Given the description of an element on the screen output the (x, y) to click on. 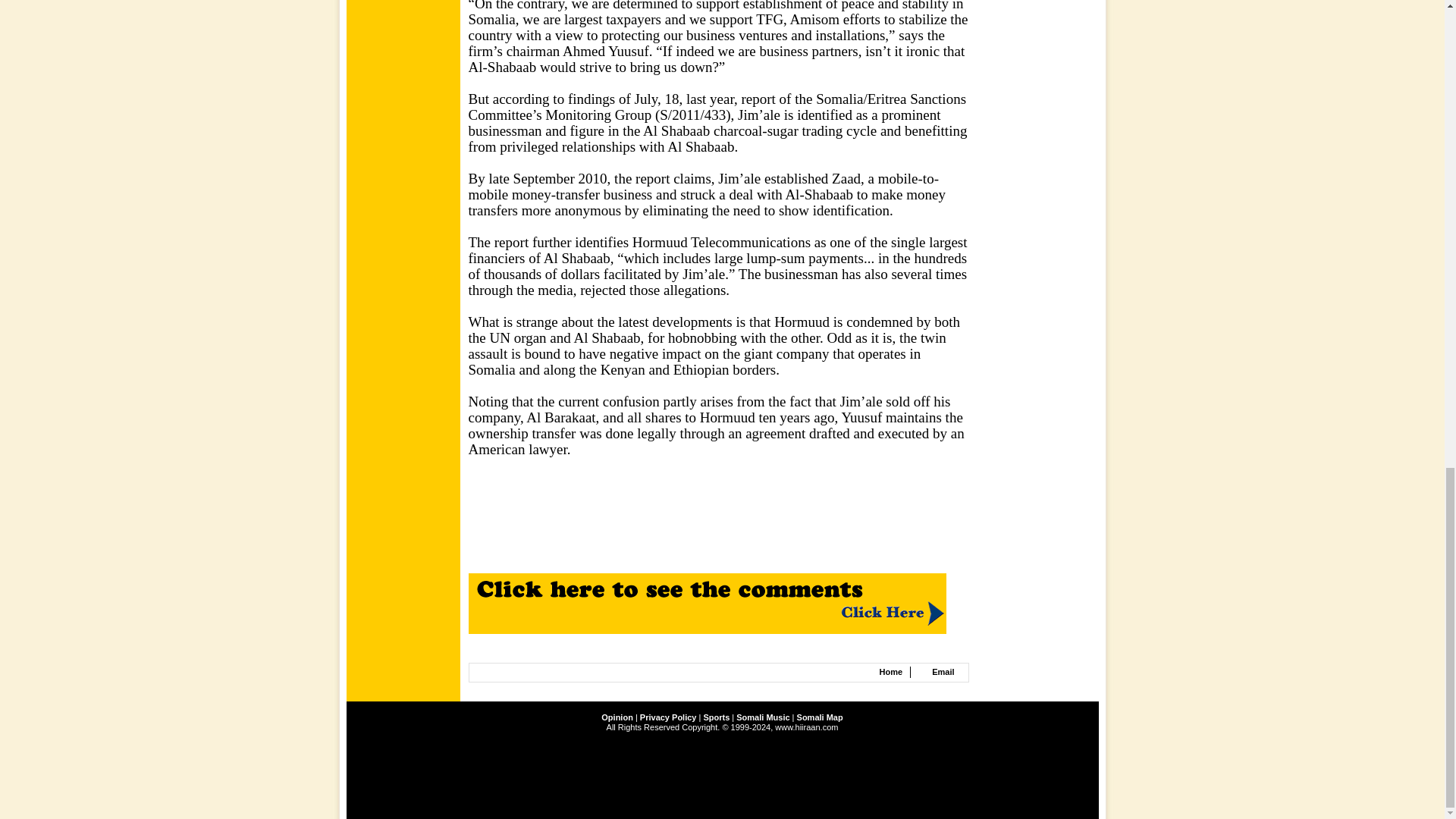
Email (942, 671)
Privacy Policy (668, 716)
Opinion (617, 716)
Somali Music (762, 716)
Somali Map (819, 716)
Sports (716, 716)
Home (890, 671)
